Given the description of an element on the screen output the (x, y) to click on. 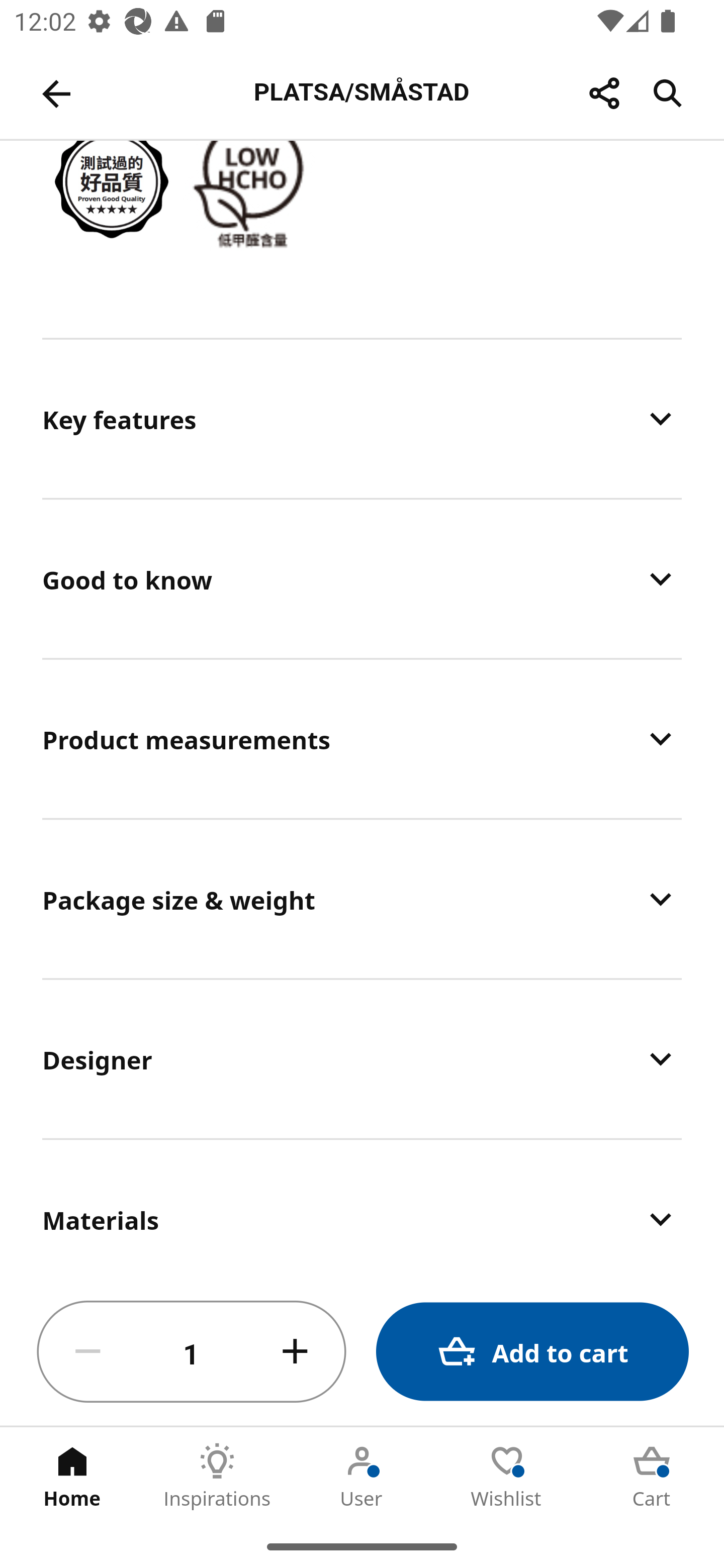
low-formaldehyde (253, 180)
wood_based_storage_ITCS (112, 181)
Key features (361, 418)
Good to know (361, 578)
Product measurements (361, 738)
Package size & weight (361, 898)
Designer (361, 1058)
Materials (361, 1209)
Add to cart (531, 1352)
1 (191, 1352)
Home
Tab 1 of 5 (72, 1476)
Inspirations
Tab 2 of 5 (216, 1476)
User
Tab 3 of 5 (361, 1476)
Wishlist
Tab 4 of 5 (506, 1476)
Cart
Tab 5 of 5 (651, 1476)
